Given the description of an element on the screen output the (x, y) to click on. 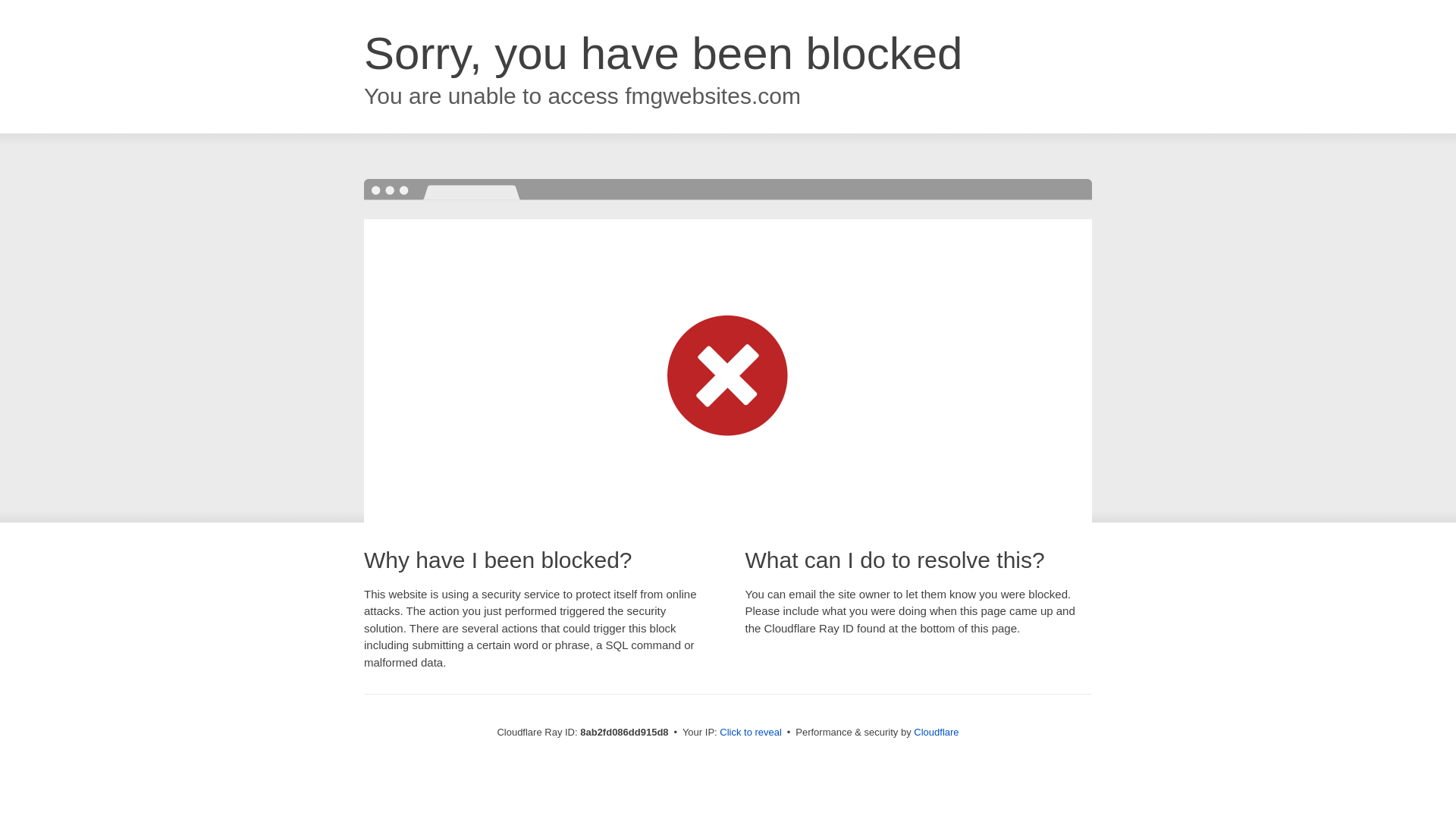
Click to reveal (750, 732)
Cloudflare (936, 731)
